Given the description of an element on the screen output the (x, y) to click on. 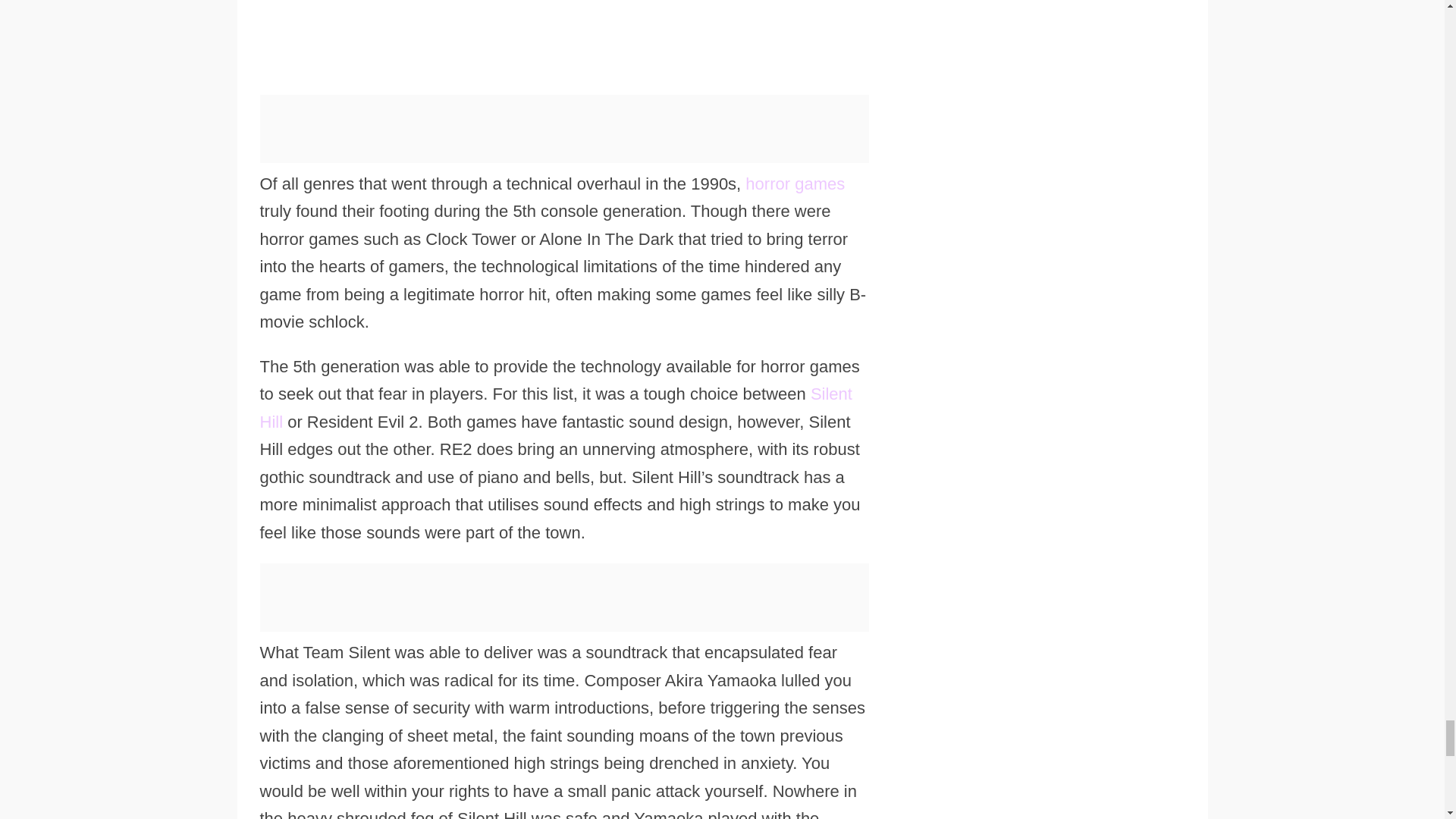
Silent Hill (555, 407)
horror games (794, 183)
Silent Hill - Full Album HD (563, 22)
